Given the description of an element on the screen output the (x, y) to click on. 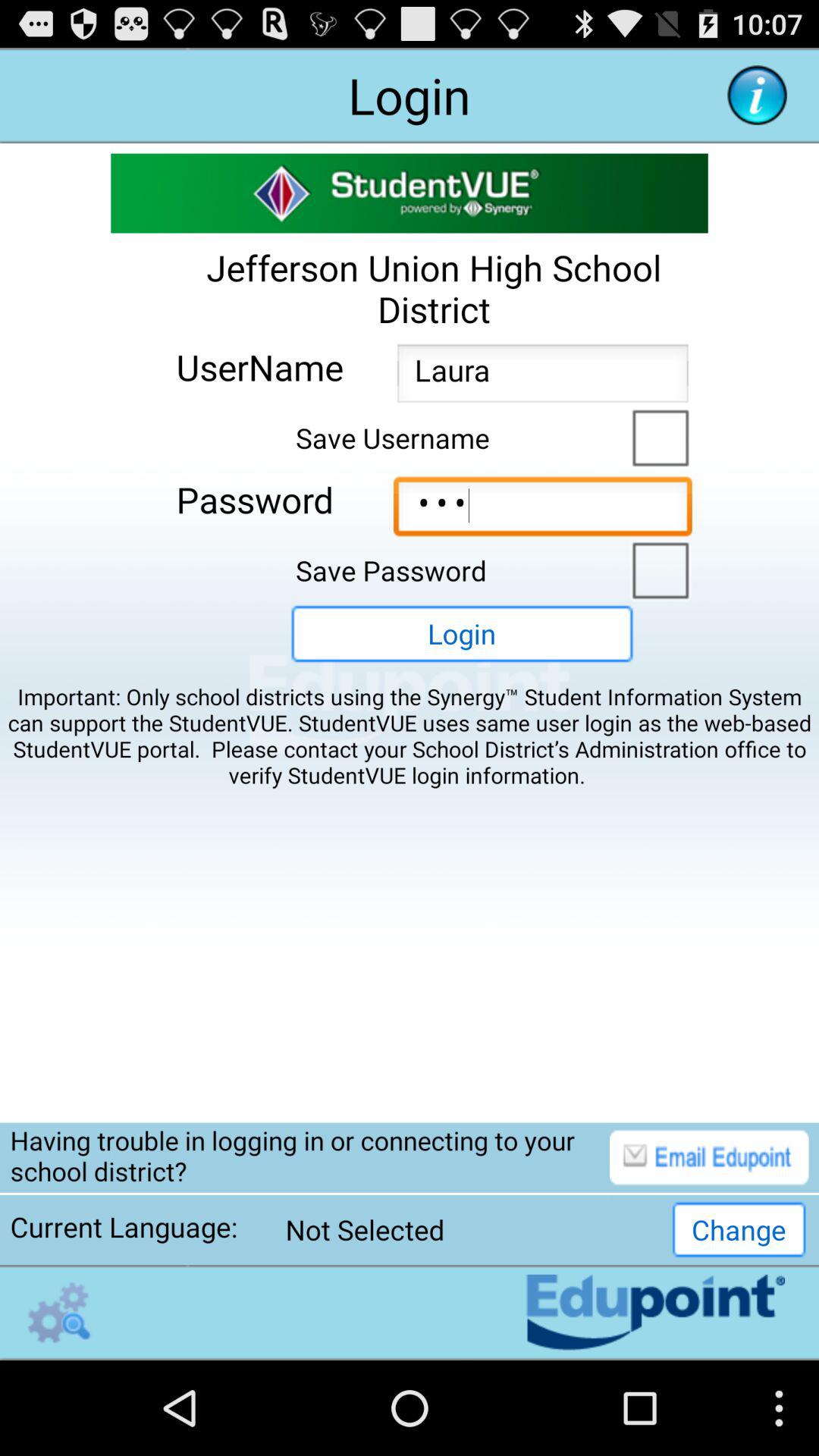
toggle save username (657, 436)
